Given the description of an element on the screen output the (x, y) to click on. 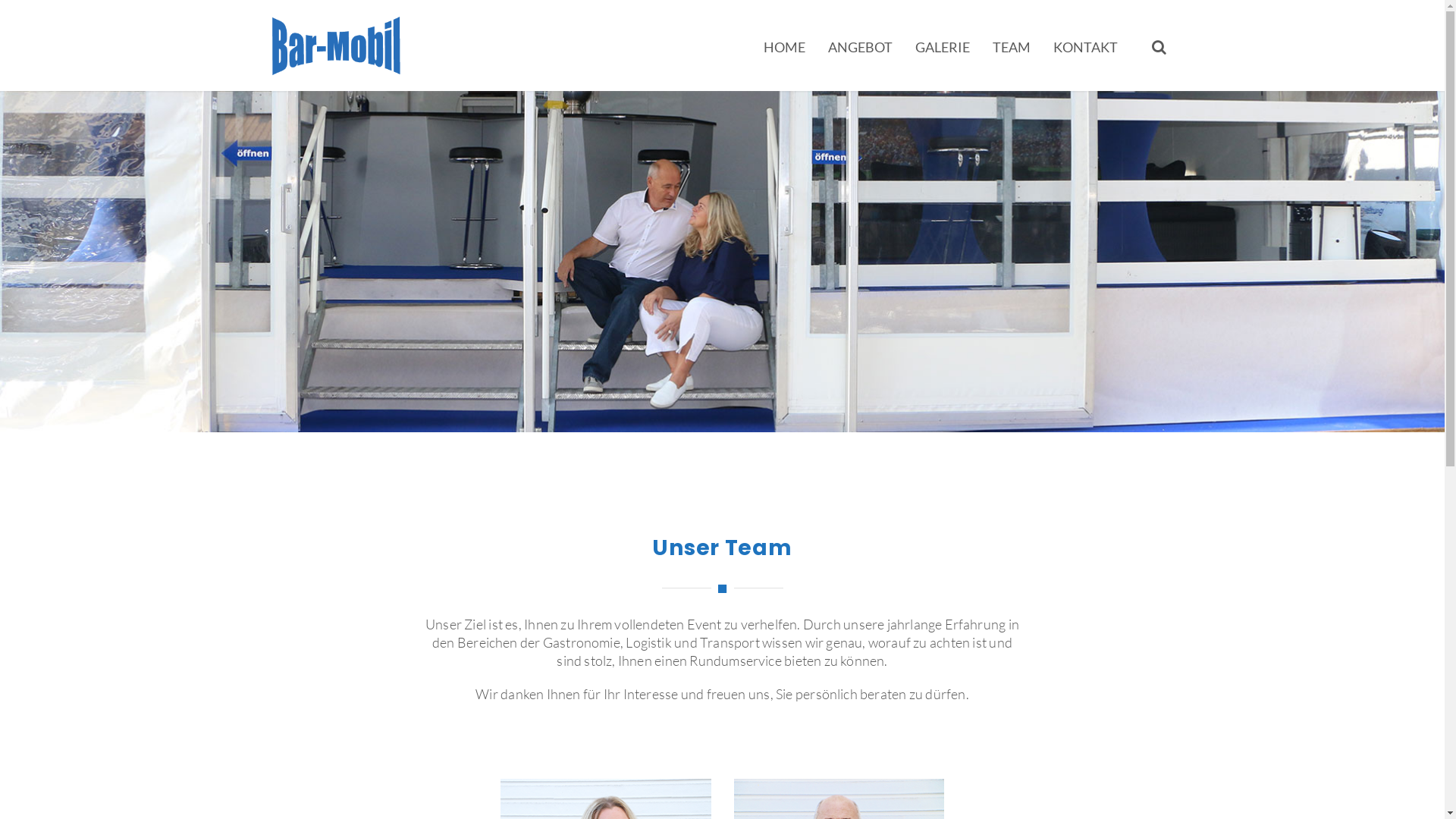
ANGEBOT Element type: text (859, 46)
HOME Element type: text (784, 46)
KONTAKT Element type: text (1085, 46)
TEAM Element type: text (1011, 46)
GALERIE Element type: text (942, 46)
